Given the description of an element on the screen output the (x, y) to click on. 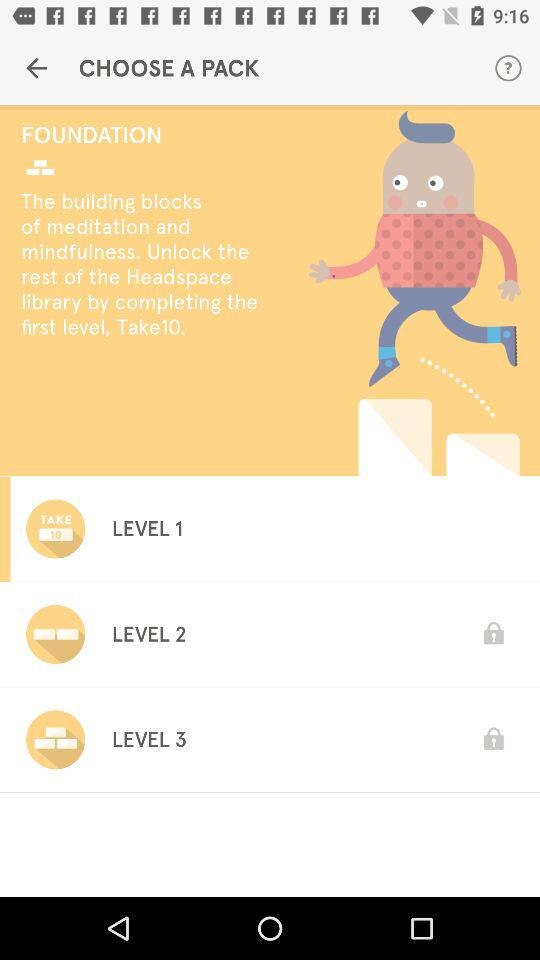
tap the icon below the level 1 (148, 634)
